Given the description of an element on the screen output the (x, y) to click on. 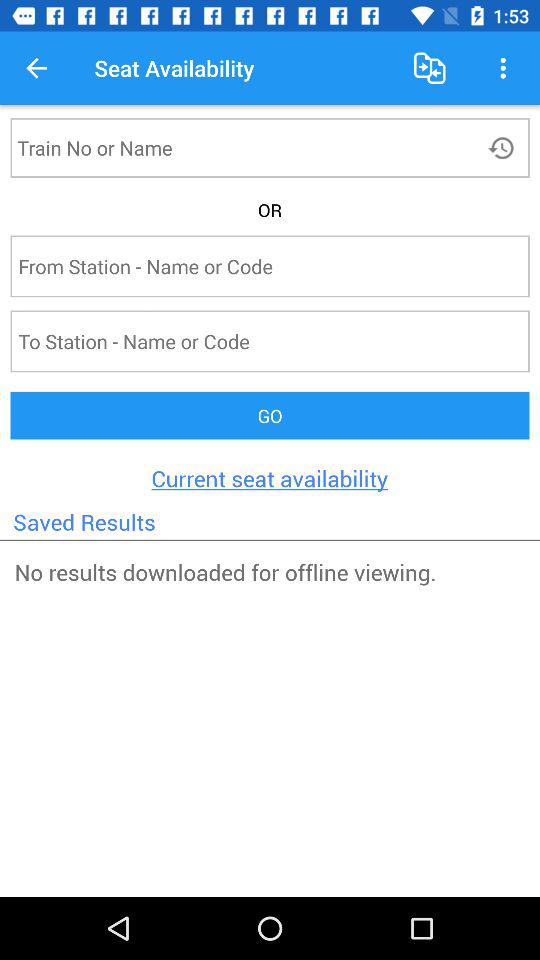
reload (503, 147)
